Given the description of an element on the screen output the (x, y) to click on. 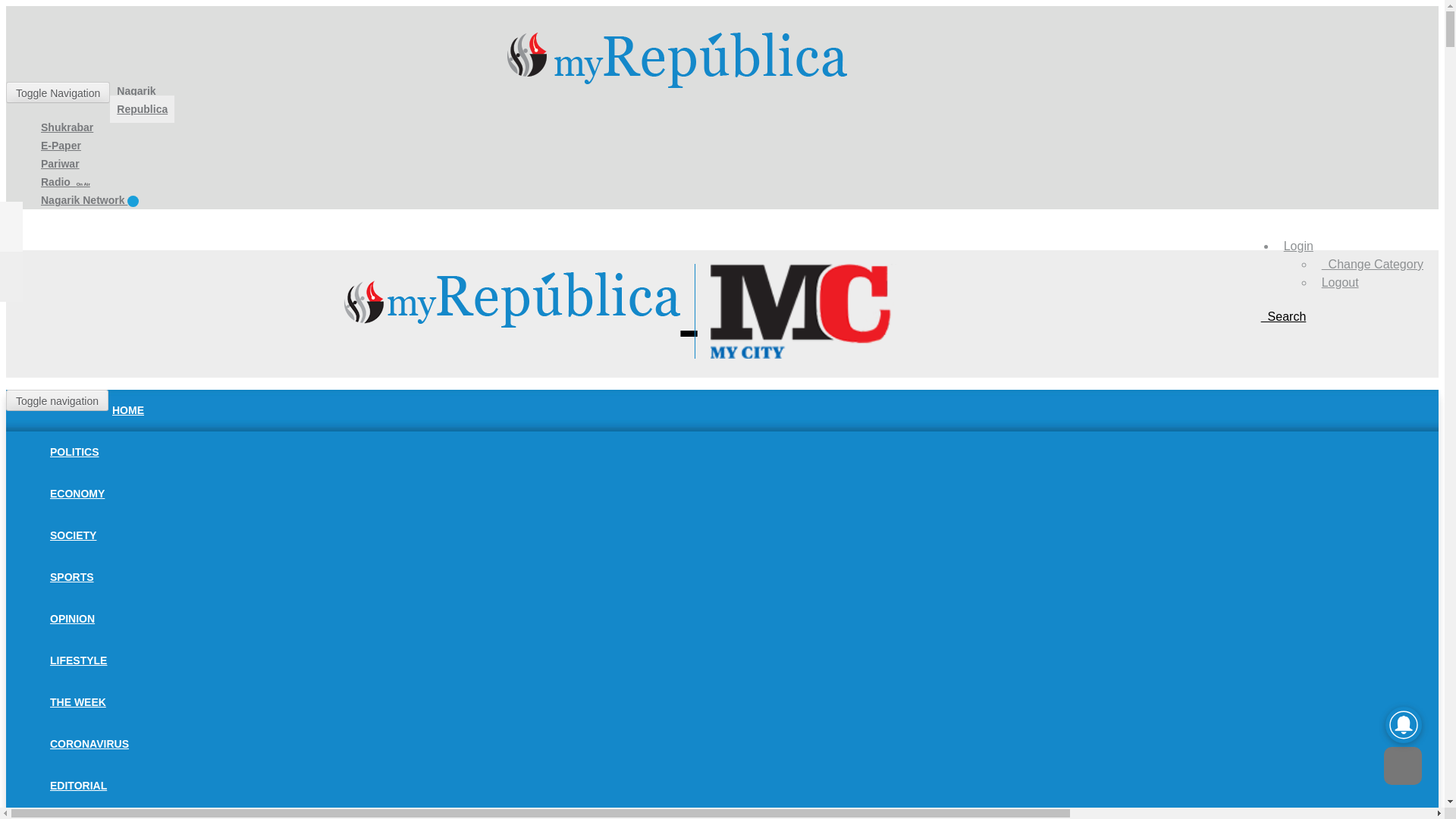
E-Paper (60, 144)
  Change Category (1372, 264)
Query Your News (1283, 316)
SPORTS (71, 576)
SOCIETY (73, 535)
POLITICS (74, 451)
Nagarik (135, 90)
ECONOMY (76, 493)
LIFESTYLE (78, 660)
THE WEEK (78, 702)
Radio  On Air (65, 181)
Shukrabar (66, 126)
OPINION (72, 618)
Login (1298, 245)
Pariwar (59, 163)
